Given the description of an element on the screen output the (x, y) to click on. 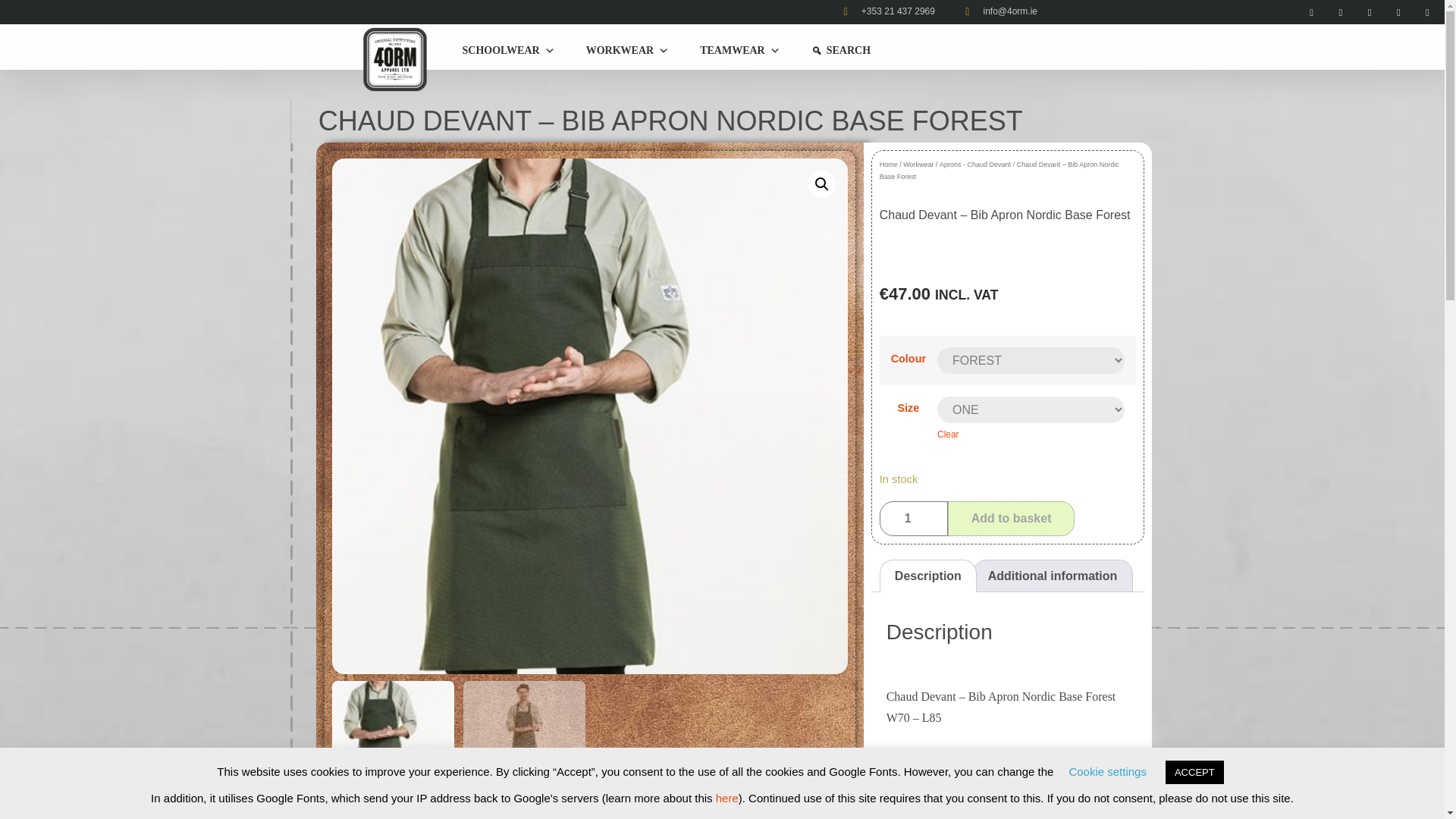
SCHOOLWEAR (507, 50)
1 (913, 518)
WORKWEAR (627, 50)
